Given the description of an element on the screen output the (x, y) to click on. 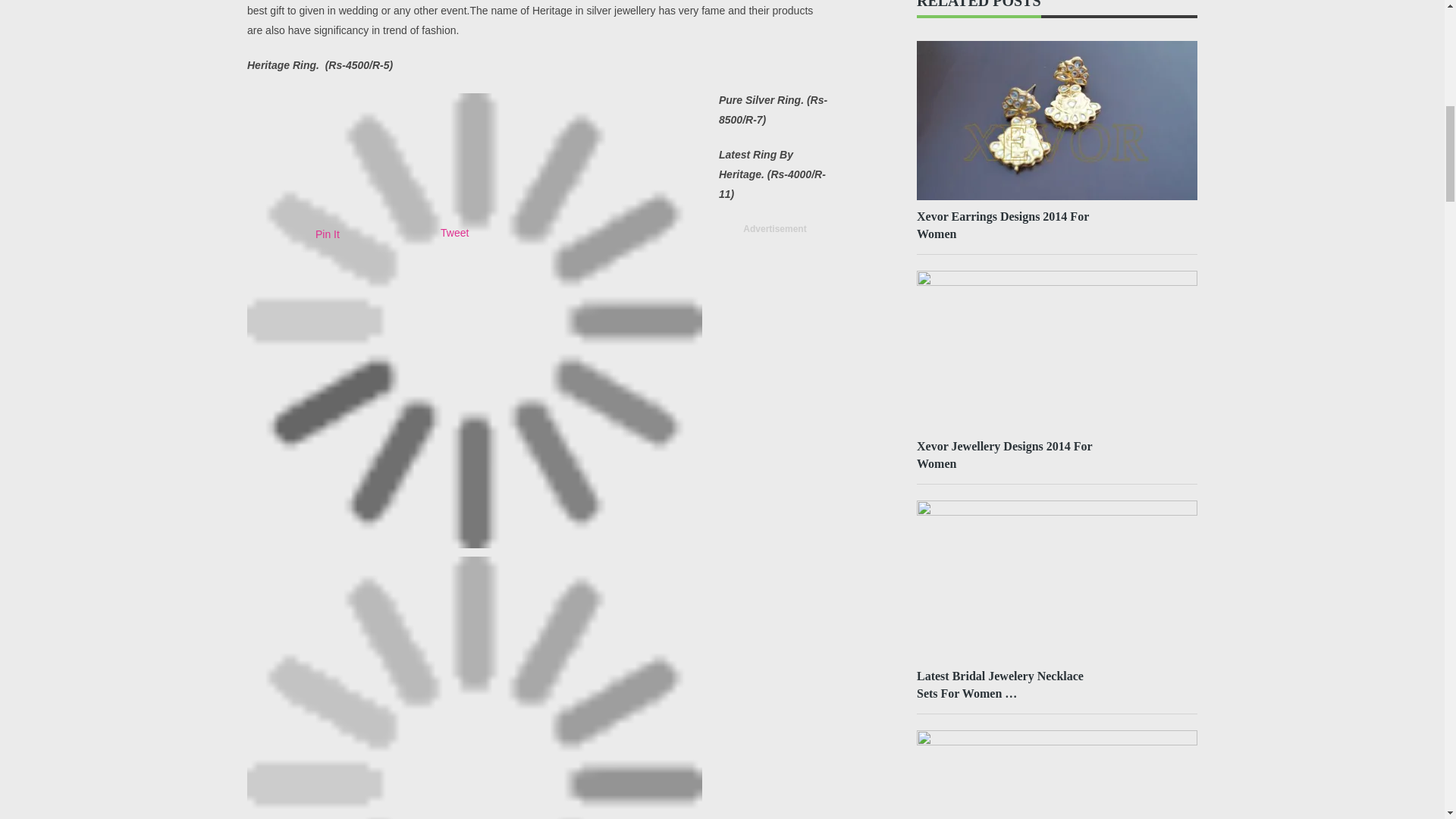
Xevor Jewellery Designs 2014 For Women (1011, 454)
Xevor Earrings Designs 2014 For Women (1011, 225)
